Given the description of an element on the screen output the (x, y) to click on. 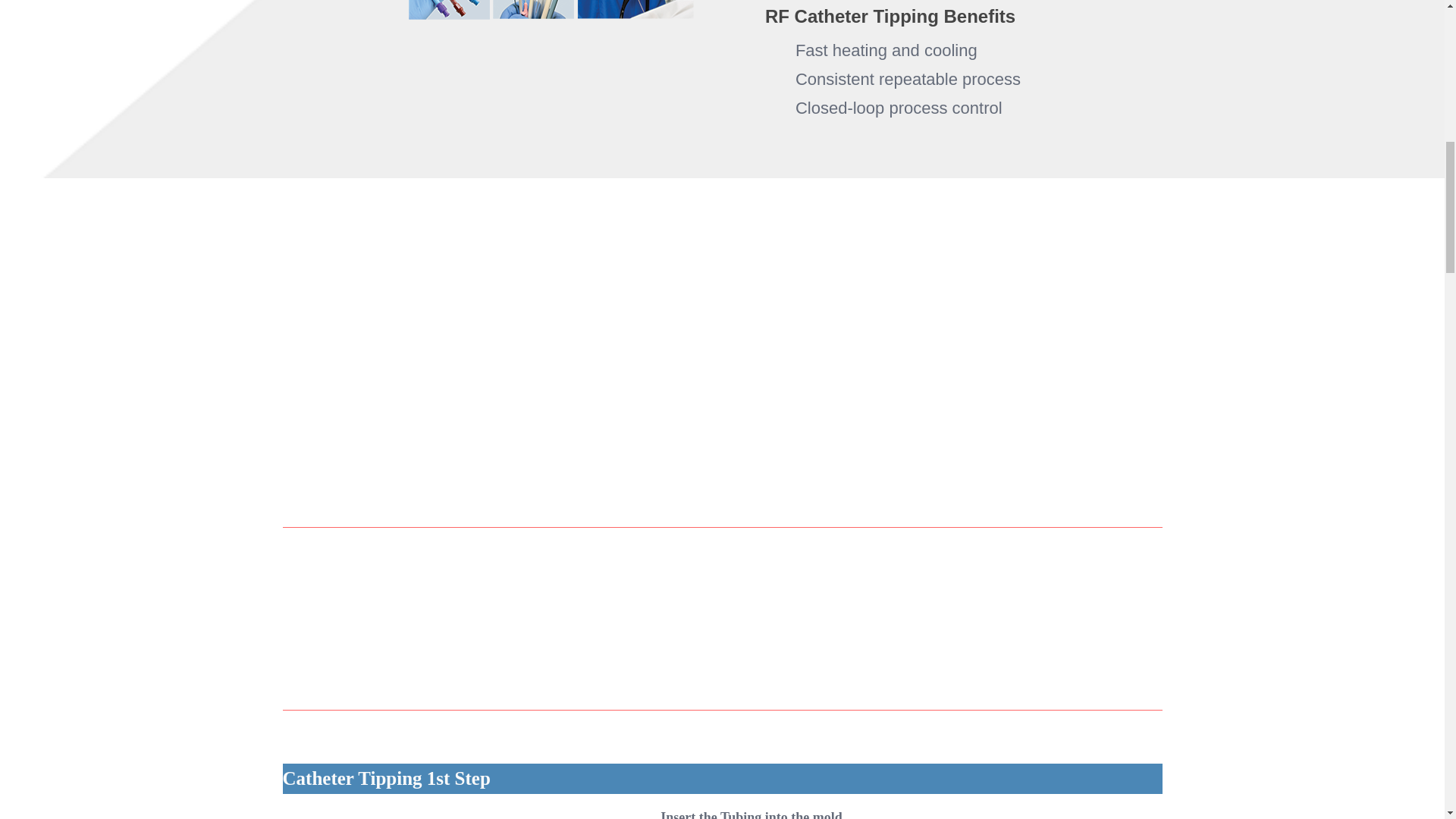
Catheter-Tipper-Brochure-Image-STB-807-LX1 (498, 10)
